Given the description of an element on the screen output the (x, y) to click on. 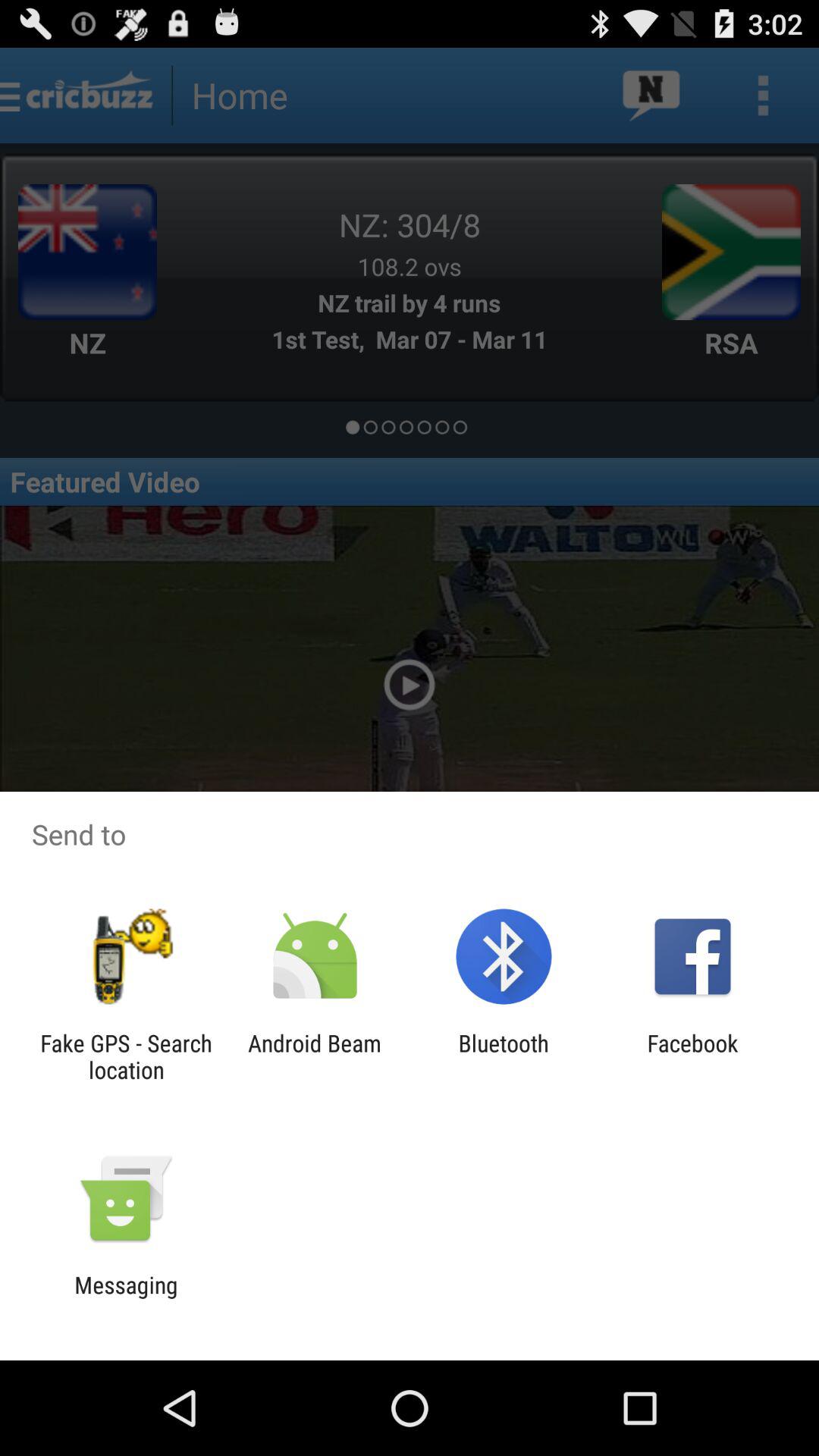
scroll to the facebook item (692, 1056)
